Given the description of an element on the screen output the (x, y) to click on. 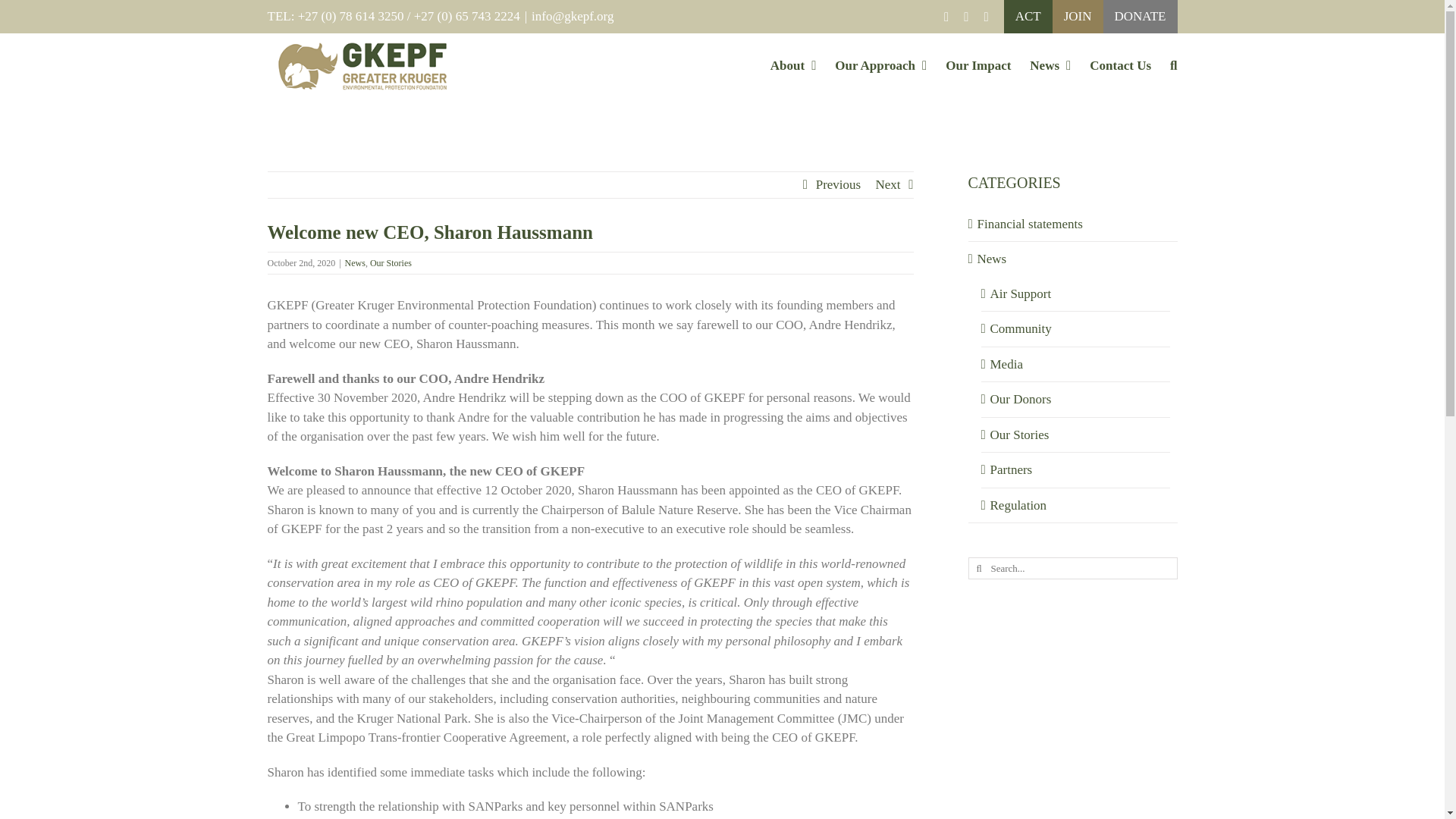
Our Impact (977, 65)
JOIN (1077, 16)
Our Approach (880, 65)
Previous (838, 184)
Contact Us (1120, 65)
Next (887, 184)
Financial statements (1072, 224)
News (1072, 259)
DONATE (1140, 16)
ACT (1028, 16)
